Given the description of an element on the screen output the (x, y) to click on. 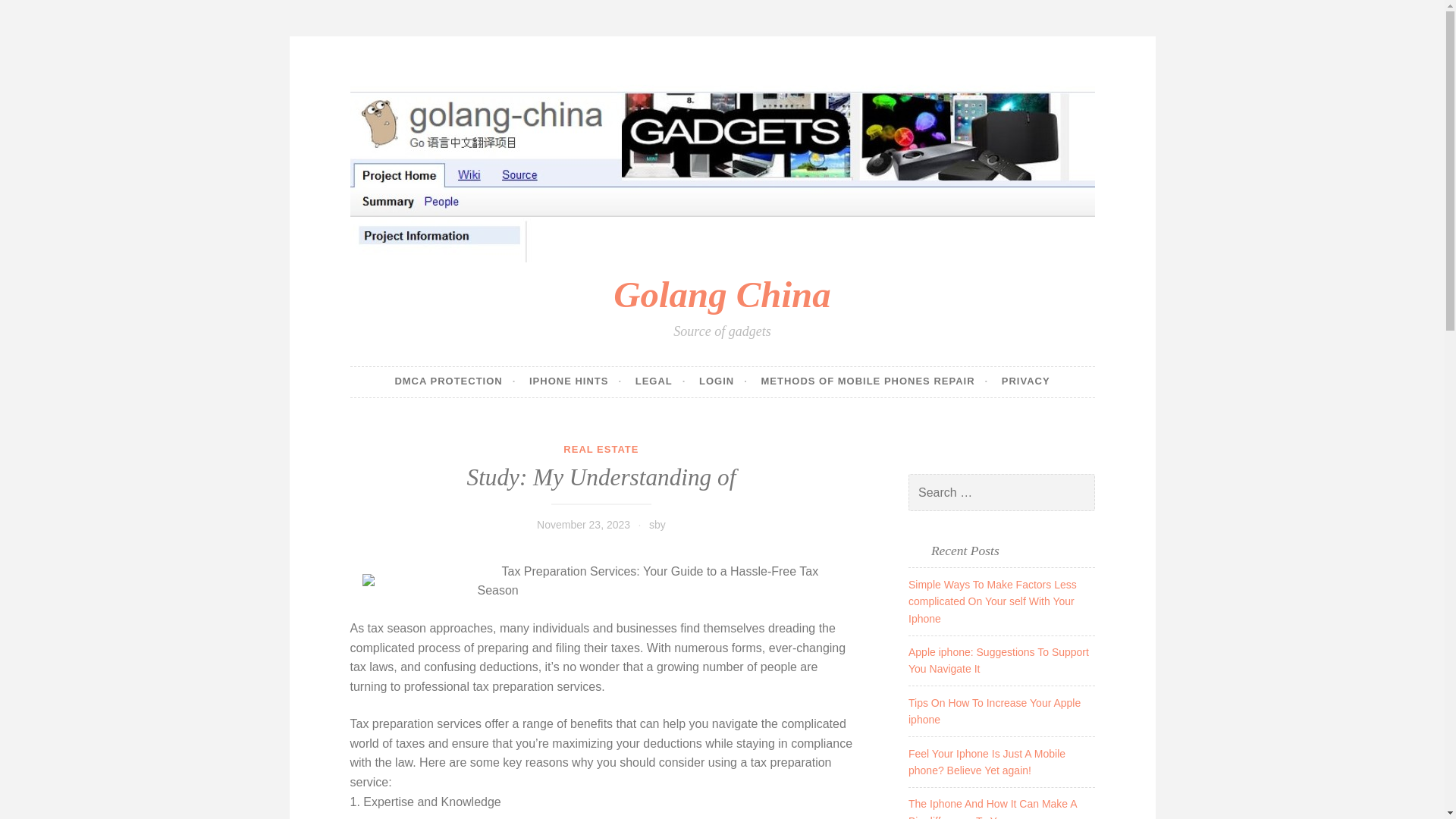
LEGAL (659, 381)
LOGIN (723, 381)
METHODS OF MOBILE PHONES REPAIR (874, 381)
Search (33, 13)
DMCA PROTECTION (454, 381)
Feel Your Iphone Is Just A Mobile phone? Believe Yet again! (986, 761)
Tips On How To Increase Your Apple iphone (994, 710)
November 23, 2023 (583, 524)
Golang China (720, 294)
